Given the description of an element on the screen output the (x, y) to click on. 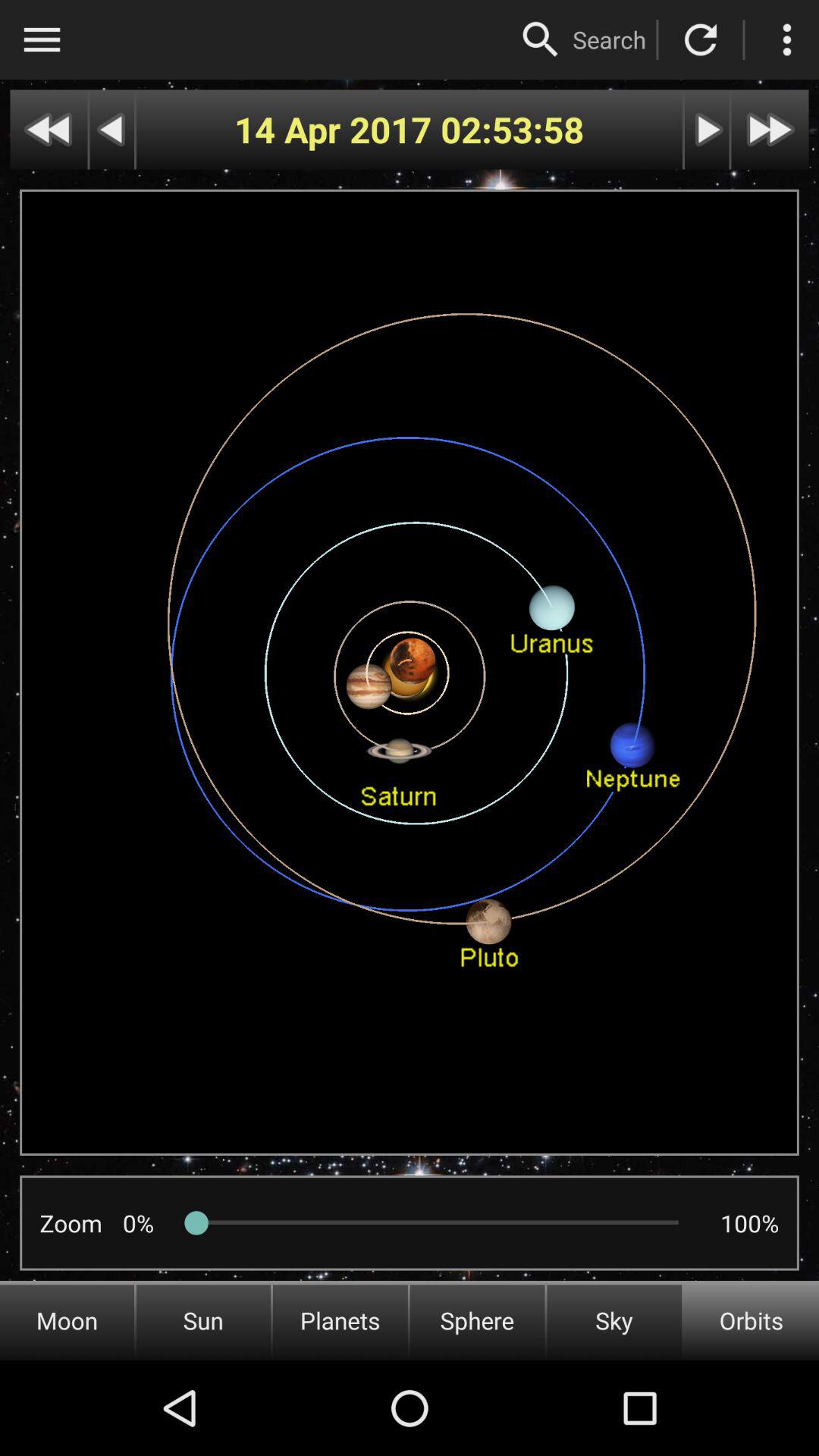
menu (41, 39)
